Given the description of an element on the screen output the (x, y) to click on. 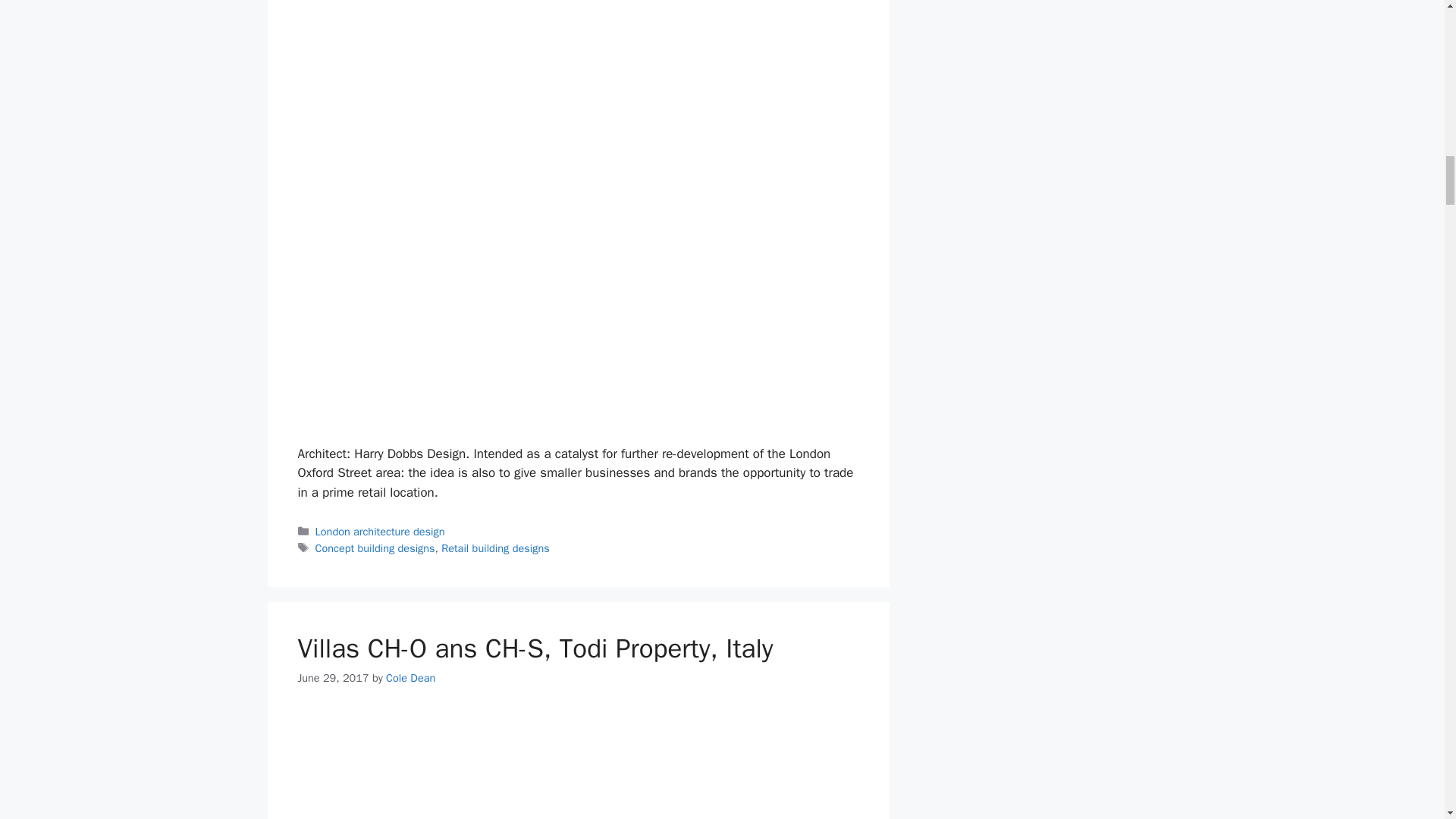
Concept building designs (375, 548)
London architecture design (380, 531)
View all posts by Cole Dean (410, 677)
